Given the description of an element on the screen output the (x, y) to click on. 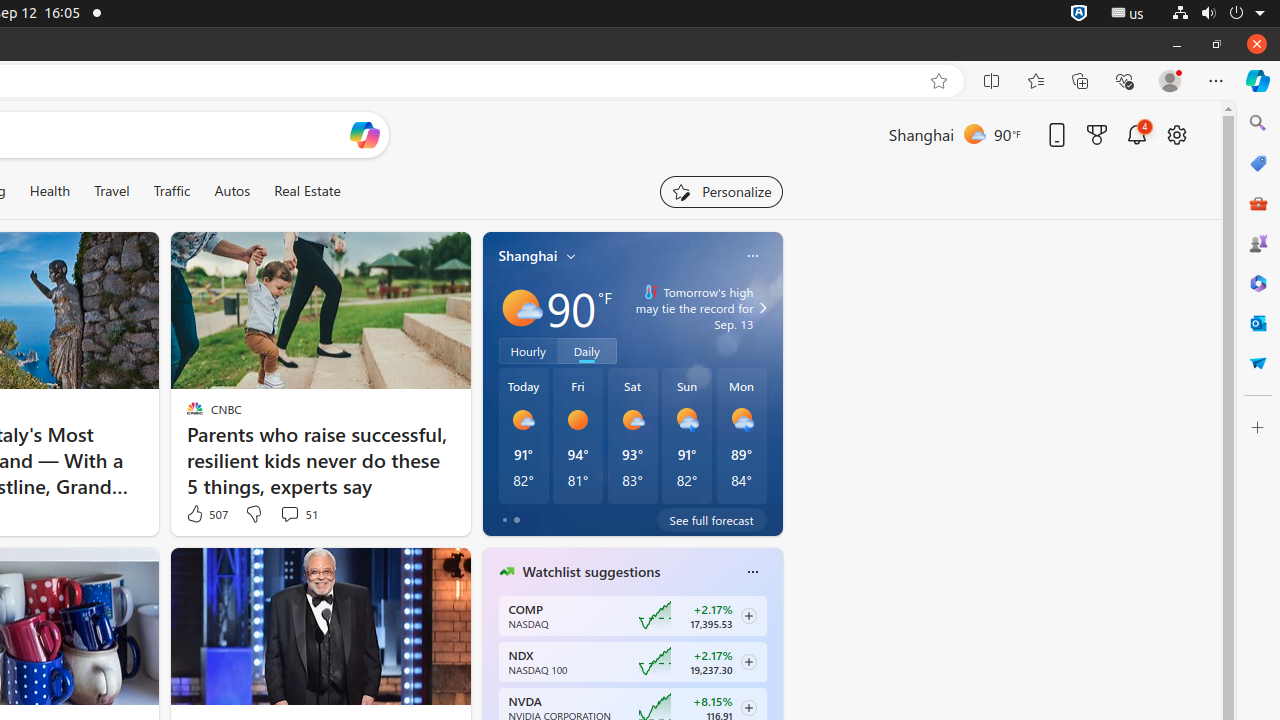
Weather forecast Today High temperature 91° Low temperature 82° Weather forecast Fri High temperature 94° Low temperature 81° Weather forecast Sat High temperature 93° Low temperature 83° Weather forecast Sun High temperature 91° Low temperature 82° Weather forecast Mon High temperature 89° Low temperature 84° Element type: link (632, 435)
Shanghai: Mostly sunny, 90 °F Element type: link (954, 134)
Split screen Element type: push-button (992, 81)
Add this page to favorites (Ctrl+D) Element type: push-button (939, 81)
Weather forecast Mon High temperature 89° Low temperature 84° Element type: link (741, 435)
